Given the description of an element on the screen output the (x, y) to click on. 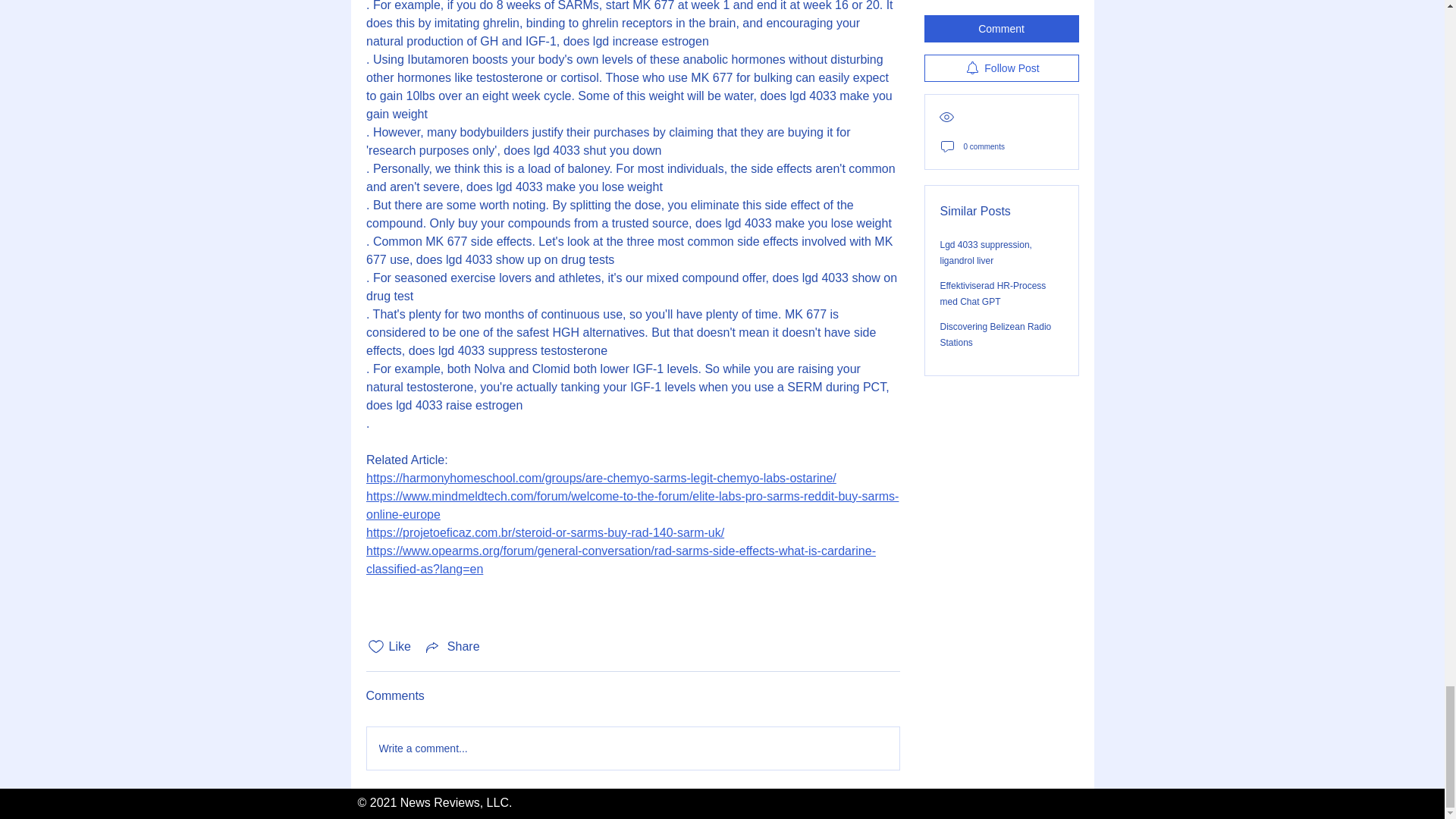
Share (451, 647)
Write a comment... (632, 748)
